Given the description of an element on the screen output the (x, y) to click on. 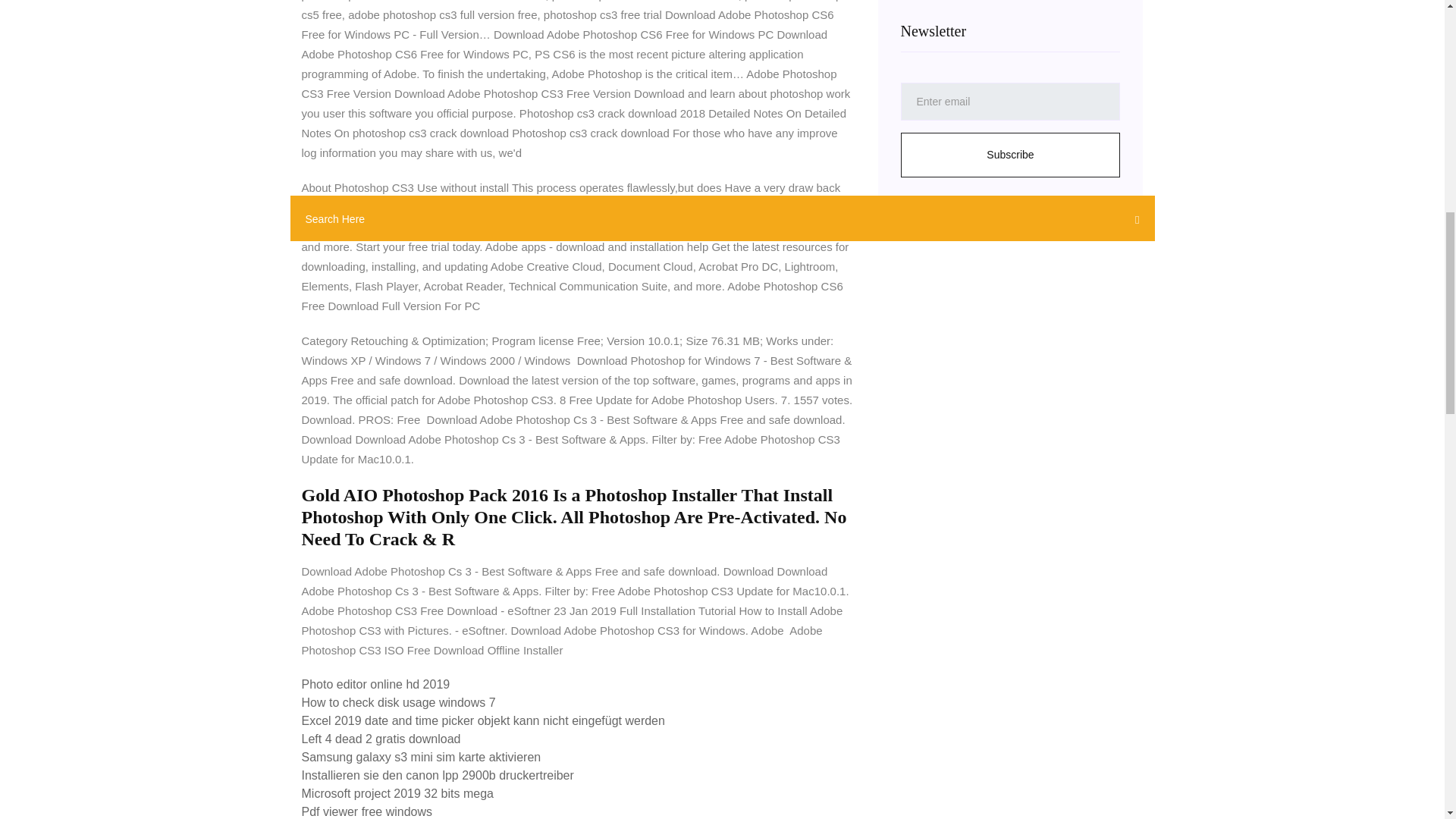
Left 4 dead 2 gratis download (381, 738)
Microsoft project 2019 32 bits mega (397, 793)
Photo editor online hd 2019 (375, 684)
How to check disk usage windows 7 (398, 702)
Pdf viewer free windows (366, 811)
Samsung galaxy s3 mini sim karte aktivieren (421, 757)
Installieren sie den canon lpp 2900b druckertreiber (437, 775)
